Given the description of an element on the screen output the (x, y) to click on. 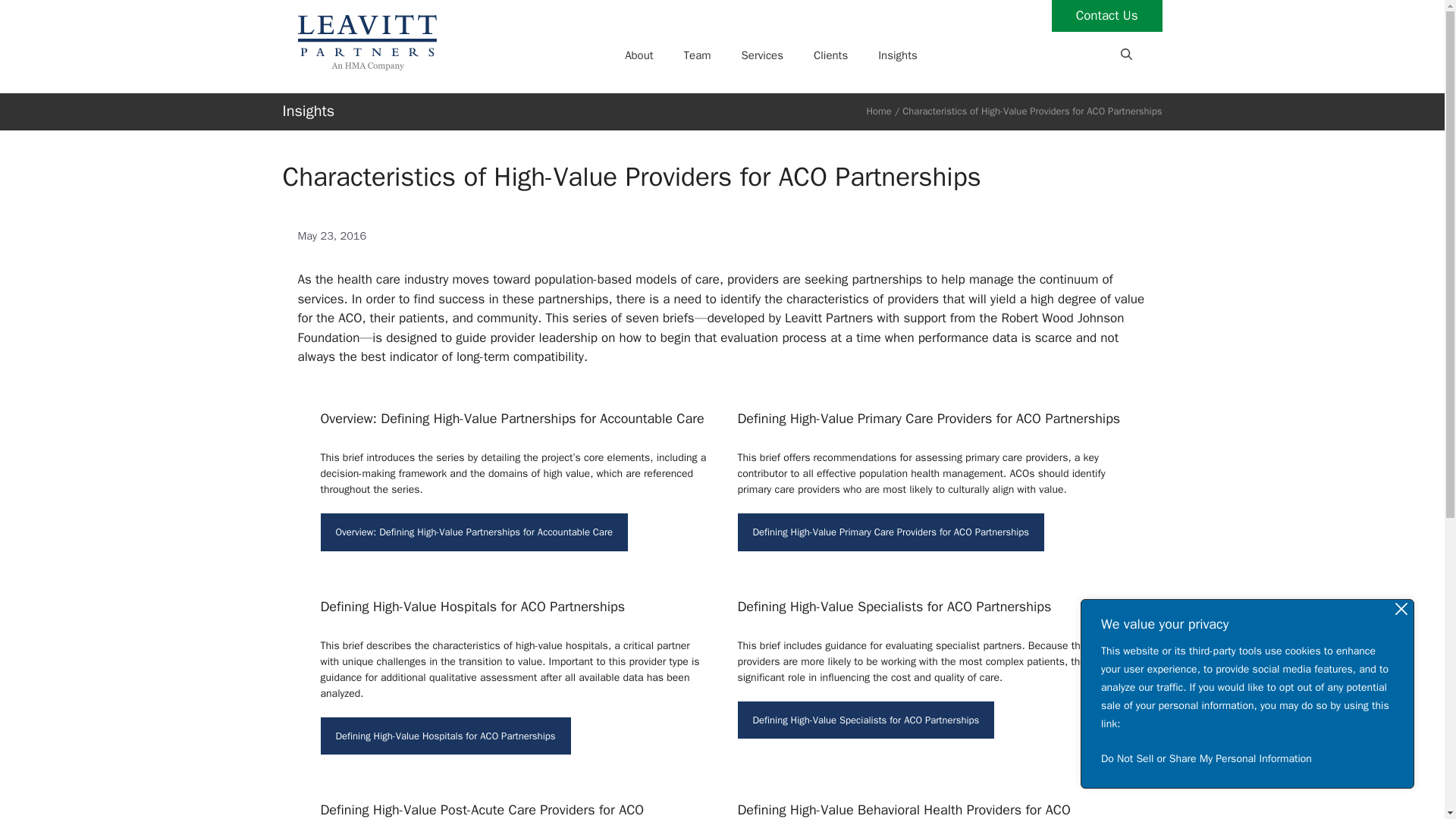
About (639, 54)
Home (878, 110)
Insights (898, 54)
Clients (830, 54)
Team (697, 54)
Do Not Sell or Share My Personal Information (1246, 759)
Contact Us (1106, 15)
Services (761, 54)
